Given the description of an element on the screen output the (x, y) to click on. 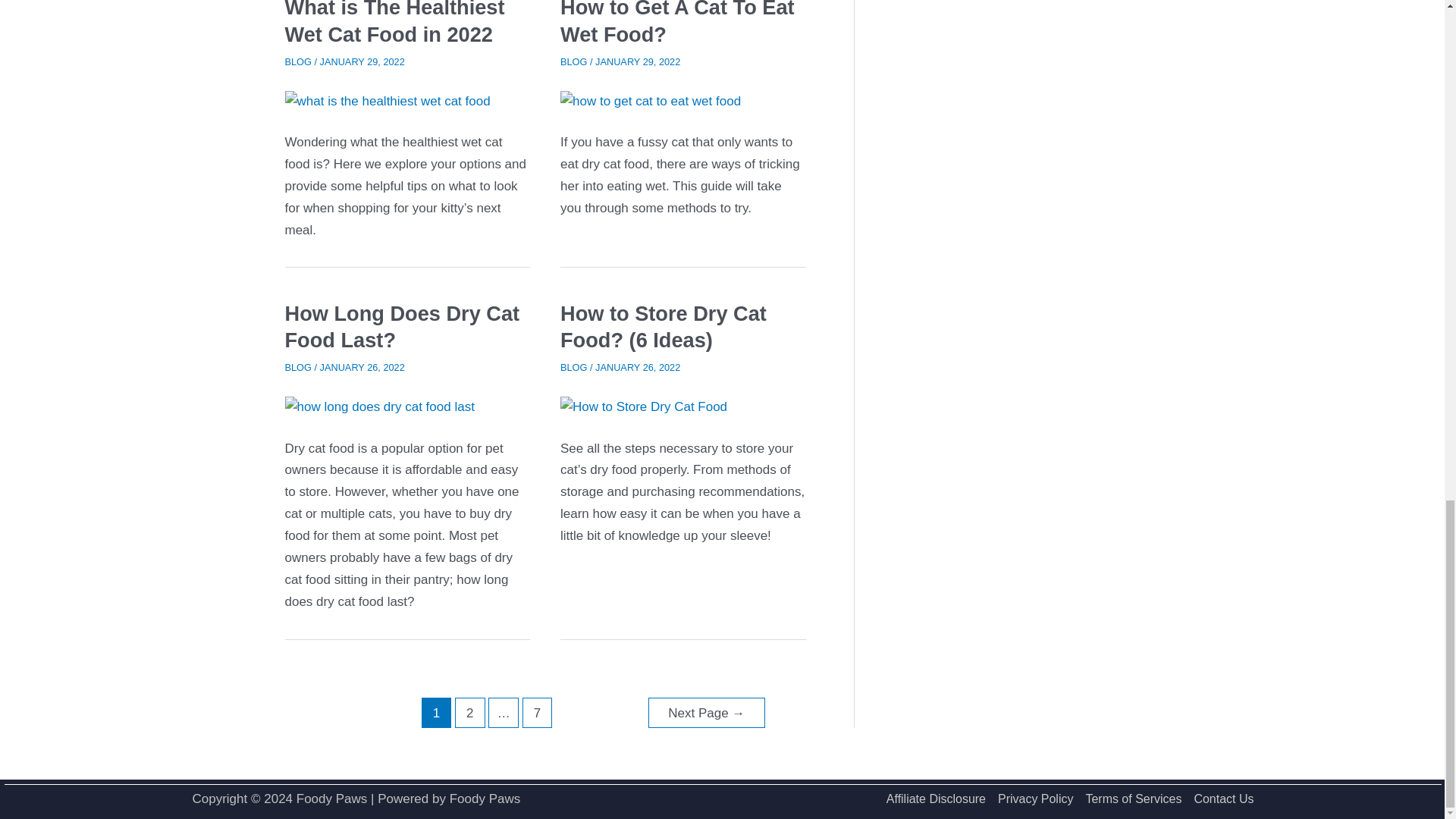
BLOG (573, 367)
How Long Does Dry Cat Food Last? (402, 327)
What is The Healthiest Wet Cat Food in 2022 (395, 22)
BLOG (573, 61)
BLOG (298, 367)
2 (469, 712)
7 (537, 712)
BLOG (298, 61)
How to Get A Cat To Eat Wet Food? (677, 22)
